Given the description of an element on the screen output the (x, y) to click on. 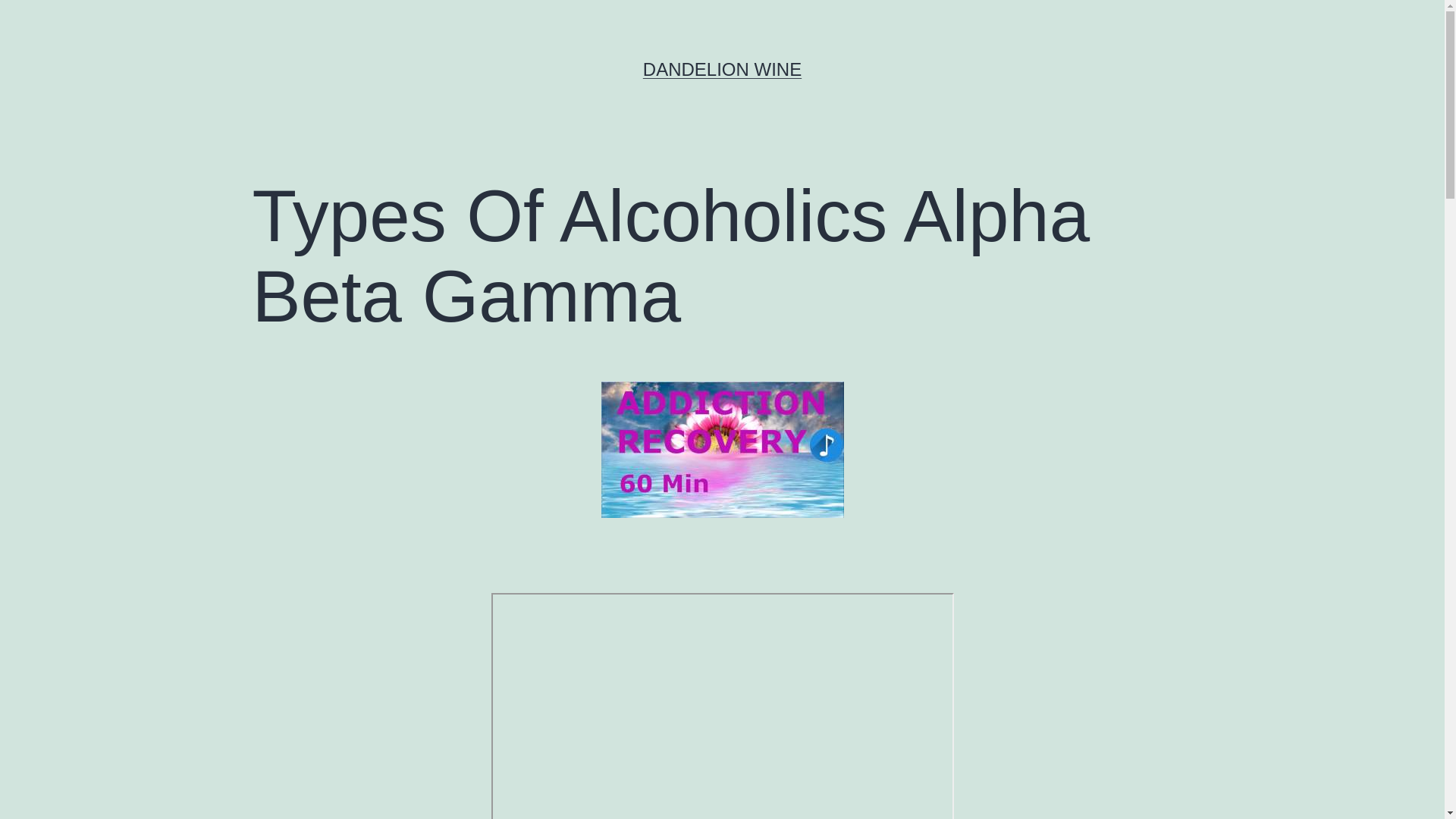
DANDELION WINE Element type: text (722, 69)
